Given the description of an element on the screen output the (x, y) to click on. 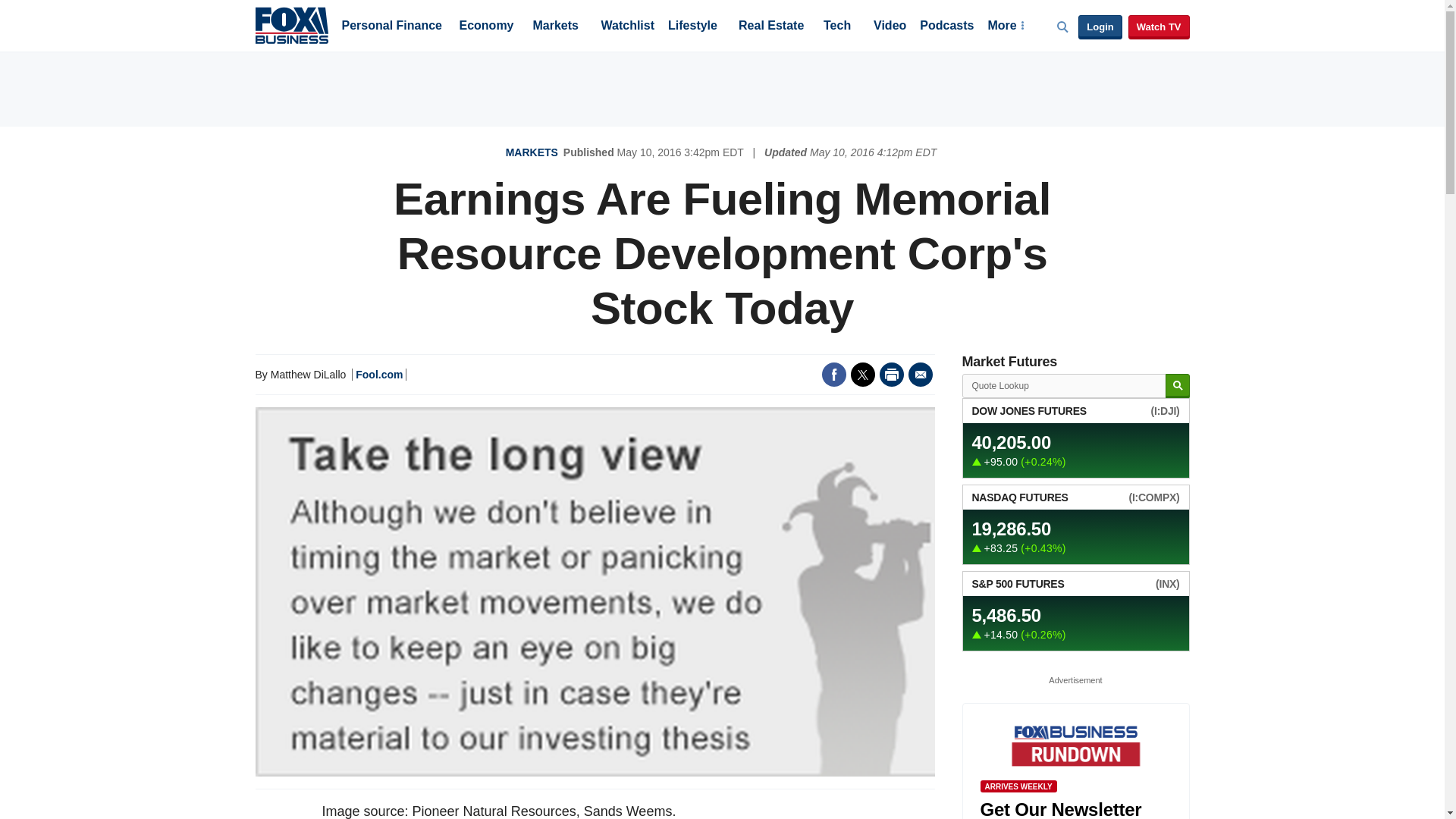
Search (1176, 385)
Lifestyle (692, 27)
Login (1099, 27)
Real Estate (770, 27)
Economy (486, 27)
More (1005, 27)
Markets (555, 27)
Watch TV (1158, 27)
Fox Business (290, 24)
Podcasts (947, 27)
Search (1176, 385)
Tech (837, 27)
Watchlist (626, 27)
Video (889, 27)
Personal Finance (391, 27)
